Given the description of an element on the screen output the (x, y) to click on. 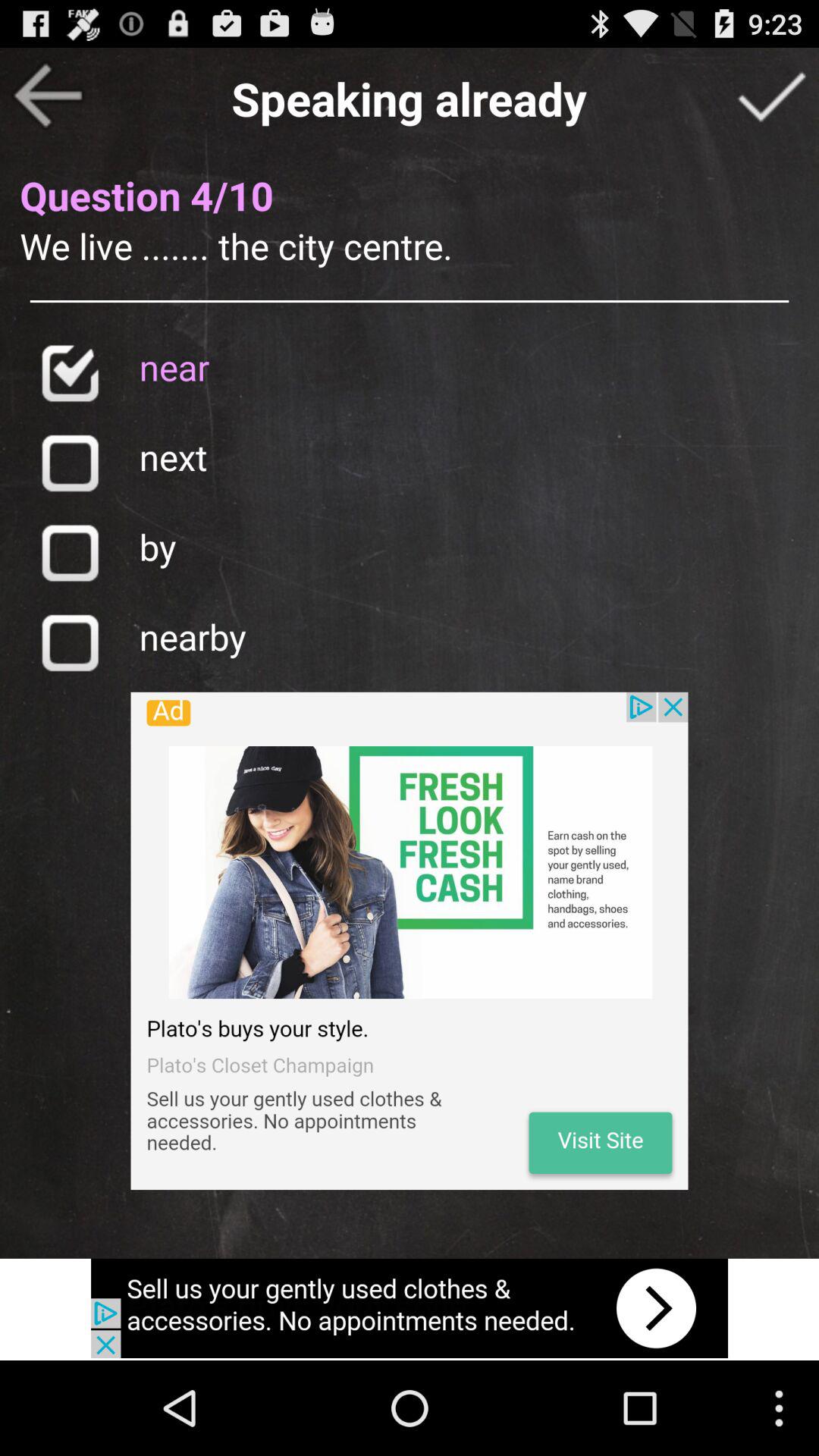
select the listed item (69, 372)
